Given the description of an element on the screen output the (x, y) to click on. 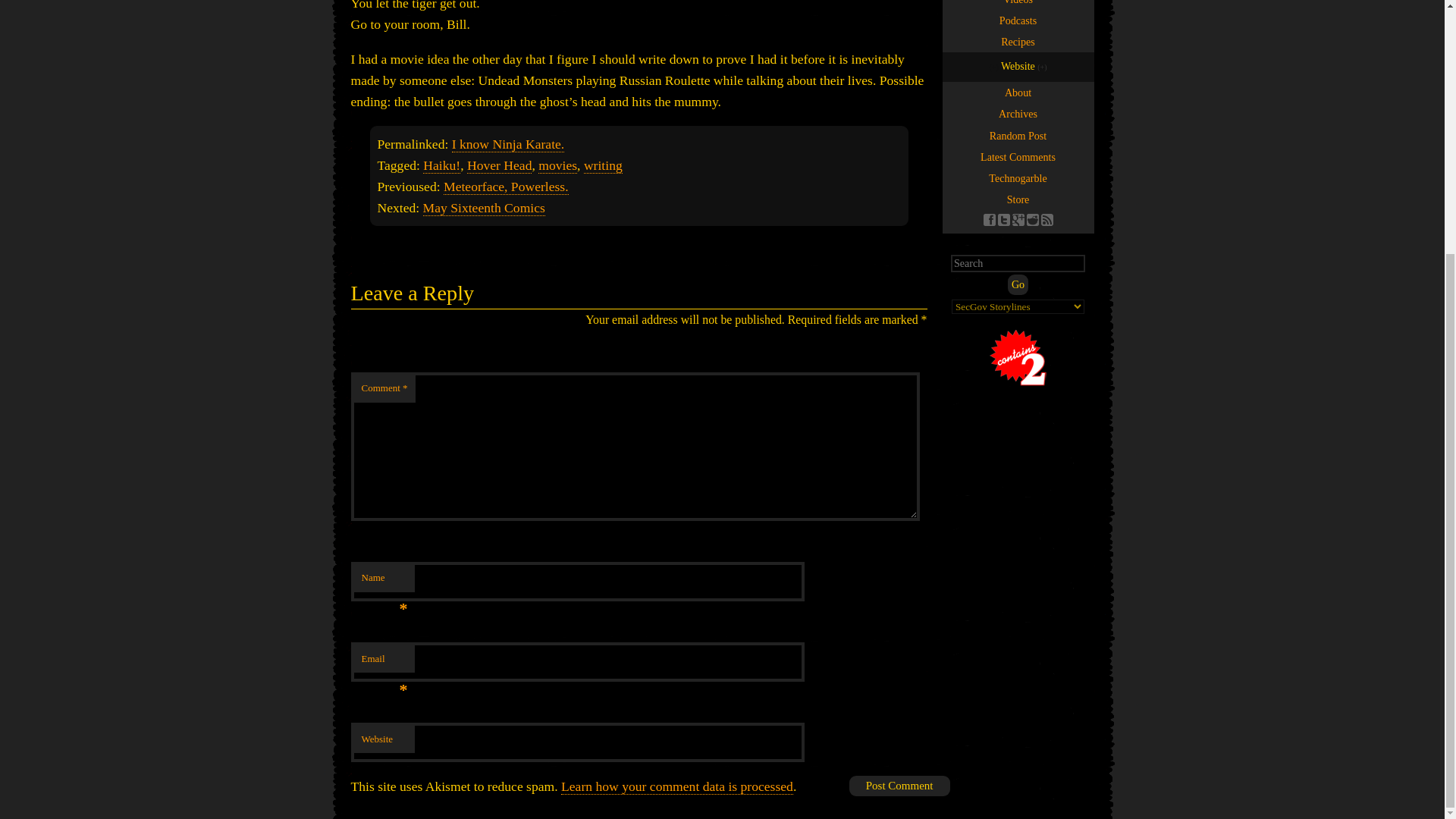
Hover Head (499, 165)
RSS Feed! (1046, 219)
Videos (1017, 4)
About (1017, 92)
Meteorface, Powerless. (506, 186)
Technogarble (1017, 178)
writing (603, 165)
movies (557, 165)
I know Ninja Karate. (507, 144)
Podcasts (1017, 20)
Learn how your comment data is processed (676, 786)
Post Comment (899, 785)
RSS (1046, 219)
Post Comment (899, 785)
Twitter! (1003, 219)
